Given the description of an element on the screen output the (x, y) to click on. 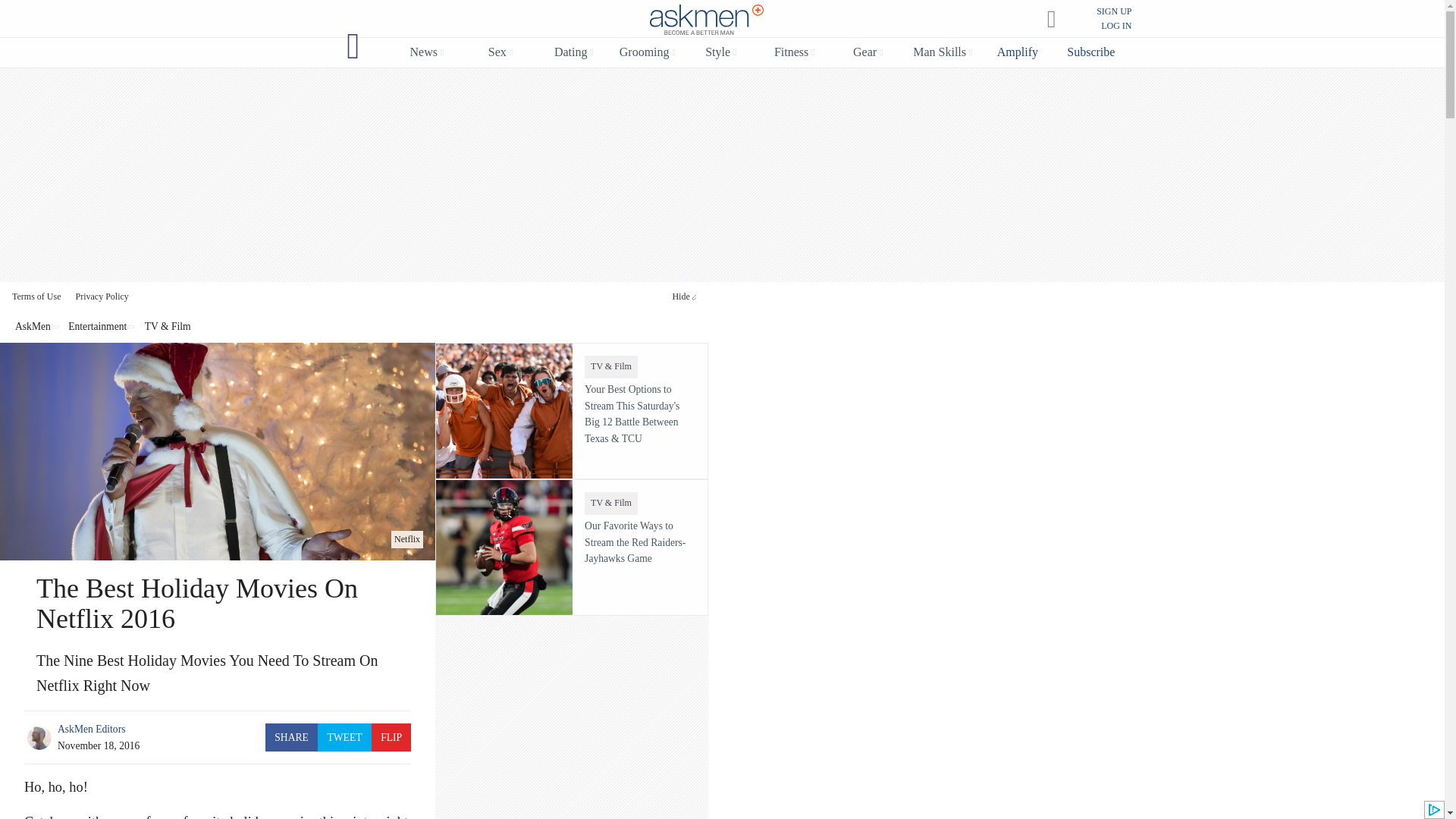
GuyQ (352, 45)
AskMen (706, 20)
LOG IN (1115, 25)
SIGN UP (1113, 11)
